Given the description of an element on the screen output the (x, y) to click on. 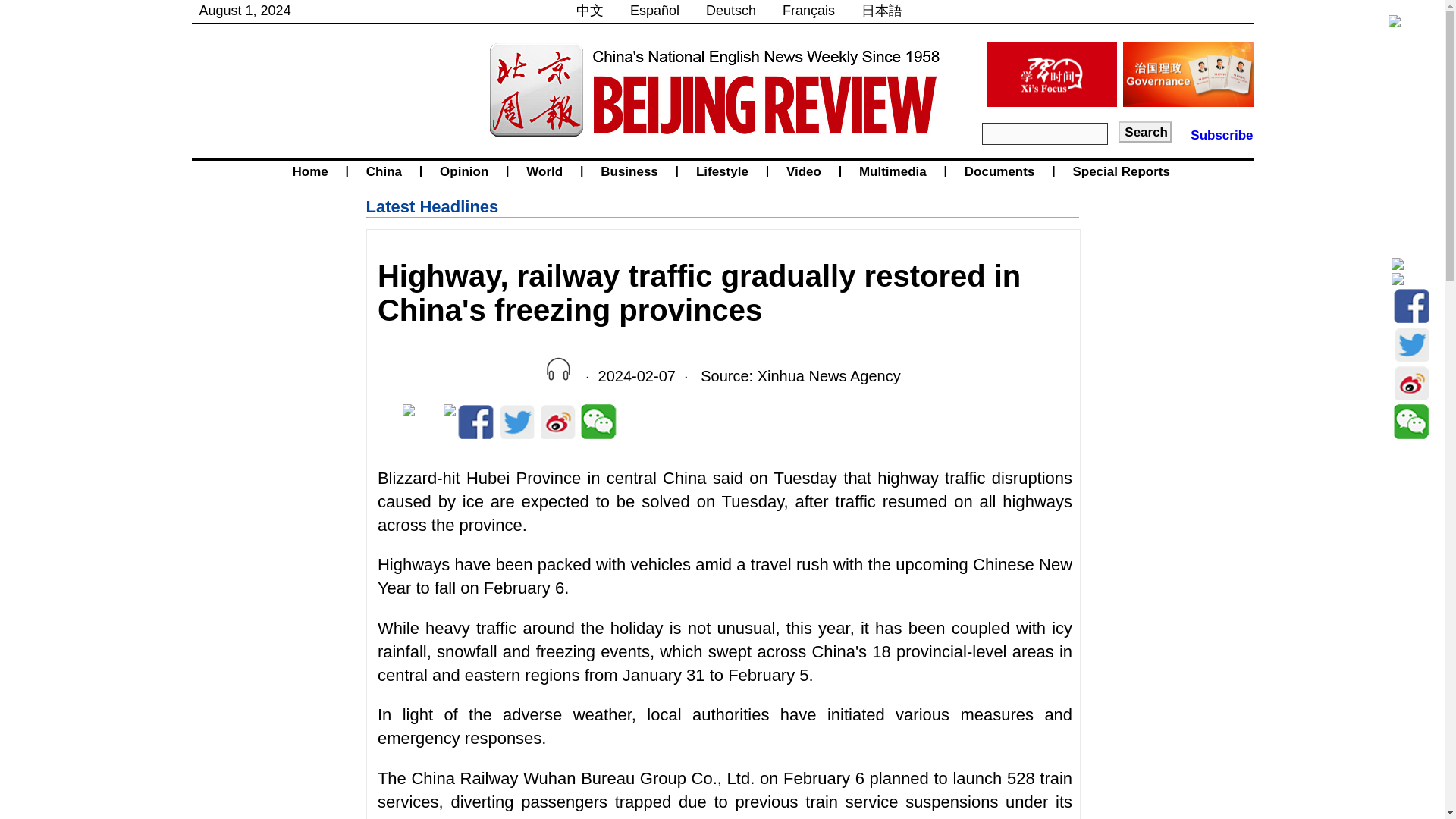
Deutsch (730, 10)
Home (309, 171)
Search (1145, 131)
Subscribe (1221, 134)
Lifestyle (722, 171)
World (544, 171)
Latest Headlines (431, 206)
Business (629, 171)
Opinion (463, 171)
China (384, 171)
Search (1145, 131)
Video (804, 171)
